Given the description of an element on the screen output the (x, y) to click on. 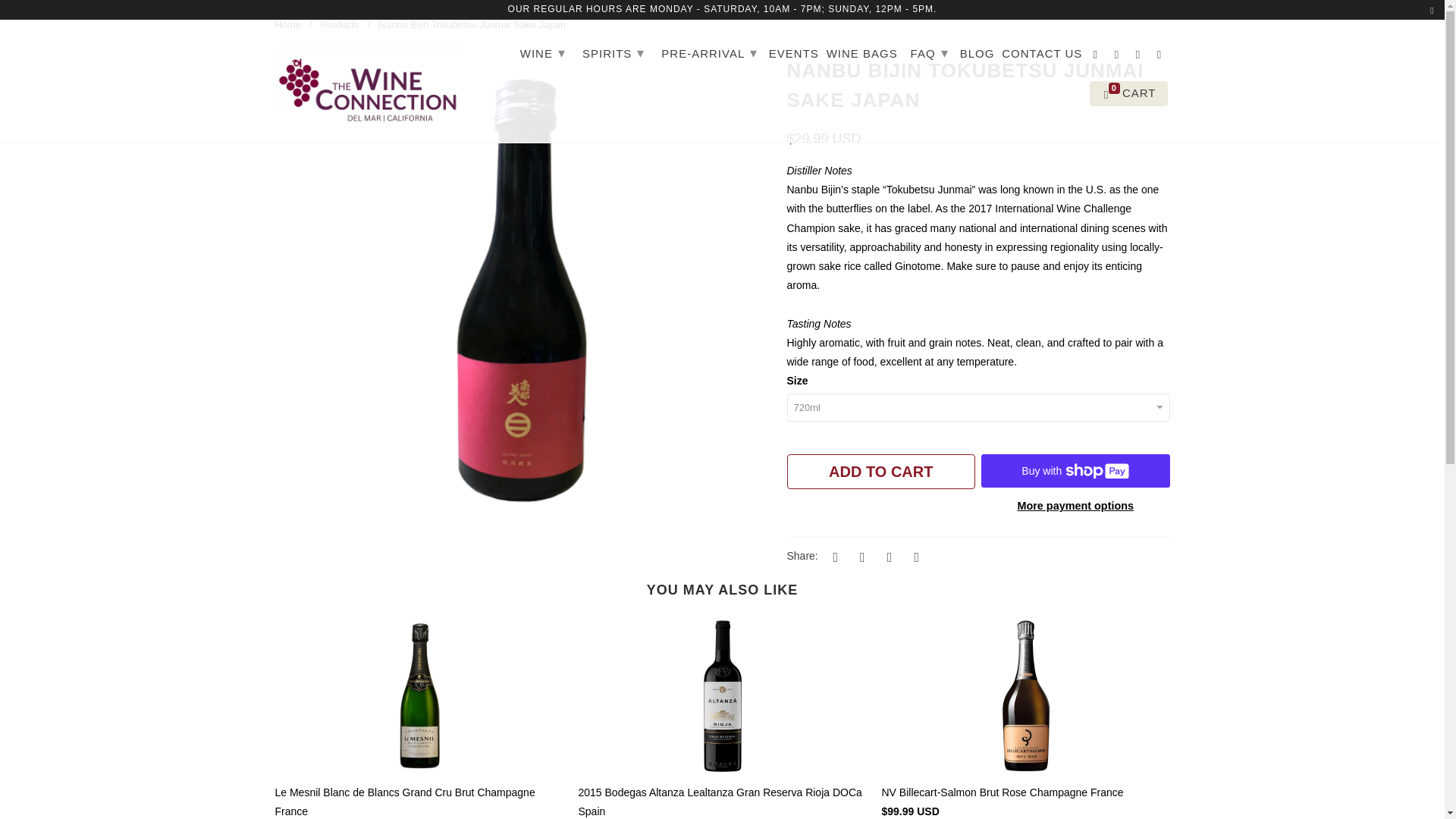
Share this on Pinterest (887, 556)
The Wine Connection (288, 24)
Share this on Twitter (833, 556)
Email this to a friend (914, 556)
Share this on Facebook (859, 556)
Products (339, 24)
